Given the description of an element on the screen output the (x, y) to click on. 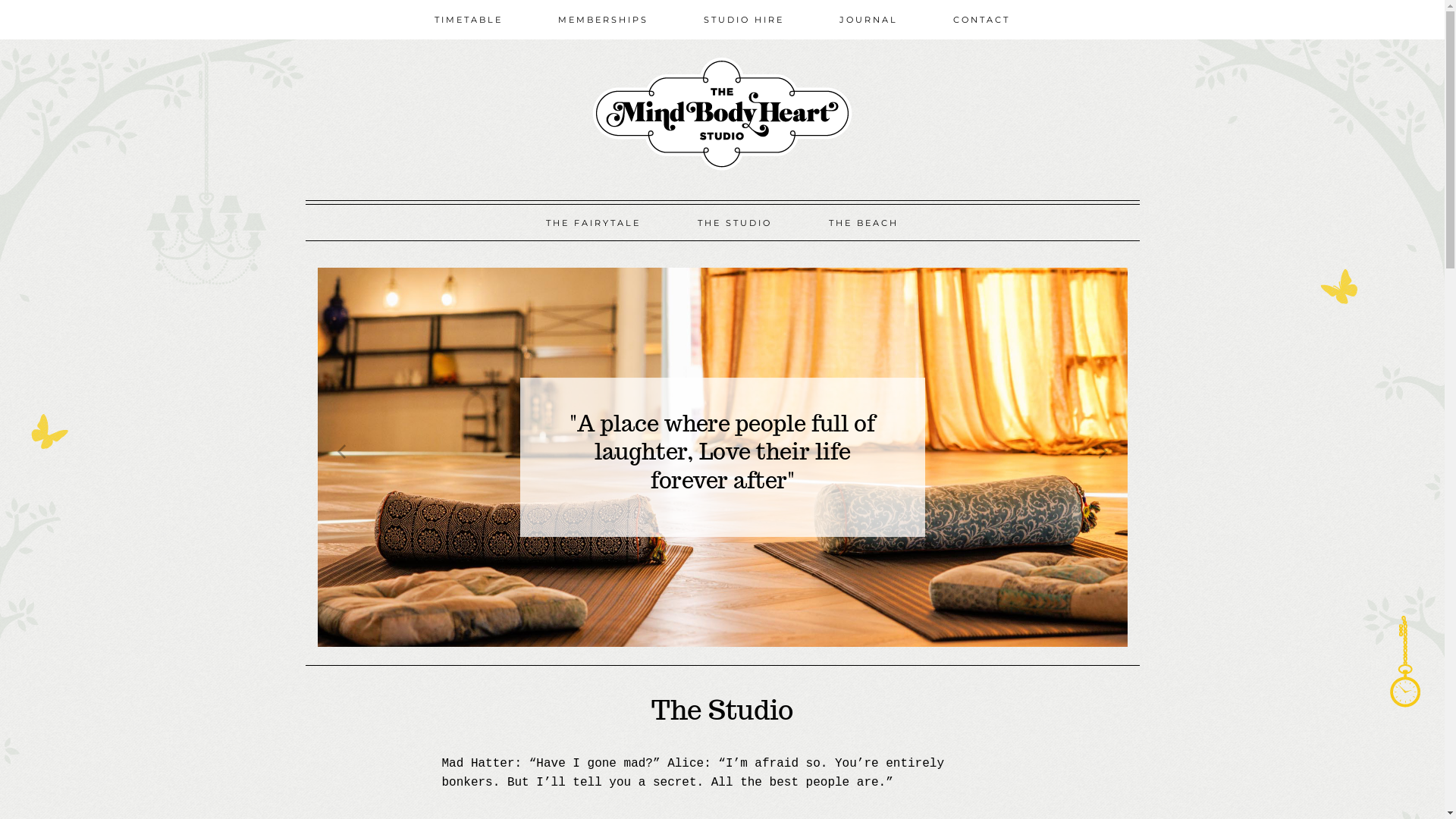
THE FAIRYTALE Element type: text (592, 222)
Skip to content Element type: text (304, 199)
TIMETABLE Element type: text (467, 19)
MEMBERSHIPS Element type: text (602, 19)
THE STUDIO Element type: text (734, 222)
JOURNAL Element type: text (868, 19)
CONTACT Element type: text (981, 19)
STUDIO HIRE Element type: text (743, 19)
THE BEACH Element type: text (864, 222)
